Given the description of an element on the screen output the (x, y) to click on. 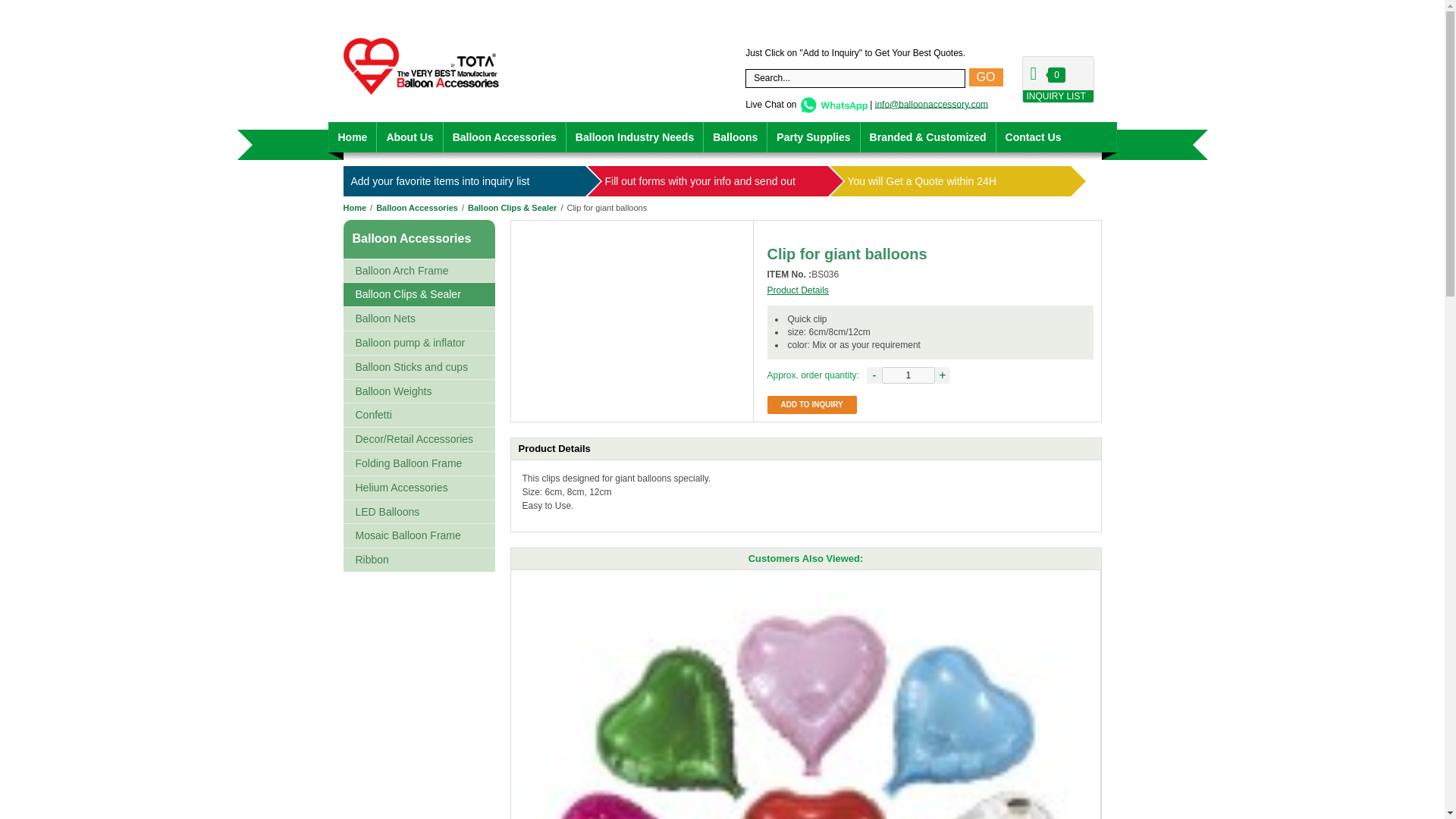
Contact Us (1032, 137)
Balloon Nets (418, 318)
GO (986, 76)
The Very Best Balloon Accessories Manufacturer in China (354, 207)
Balloon Accessories (416, 207)
1 (908, 375)
Balloon Industry Needs (634, 137)
Home (354, 207)
Balloon Accessories (505, 137)
Chat in Whatsapp (833, 103)
Balloon Accessories (411, 237)
Home (353, 137)
About Us (409, 137)
Balloons (735, 137)
Party Supplies (813, 137)
